Given the description of an element on the screen output the (x, y) to click on. 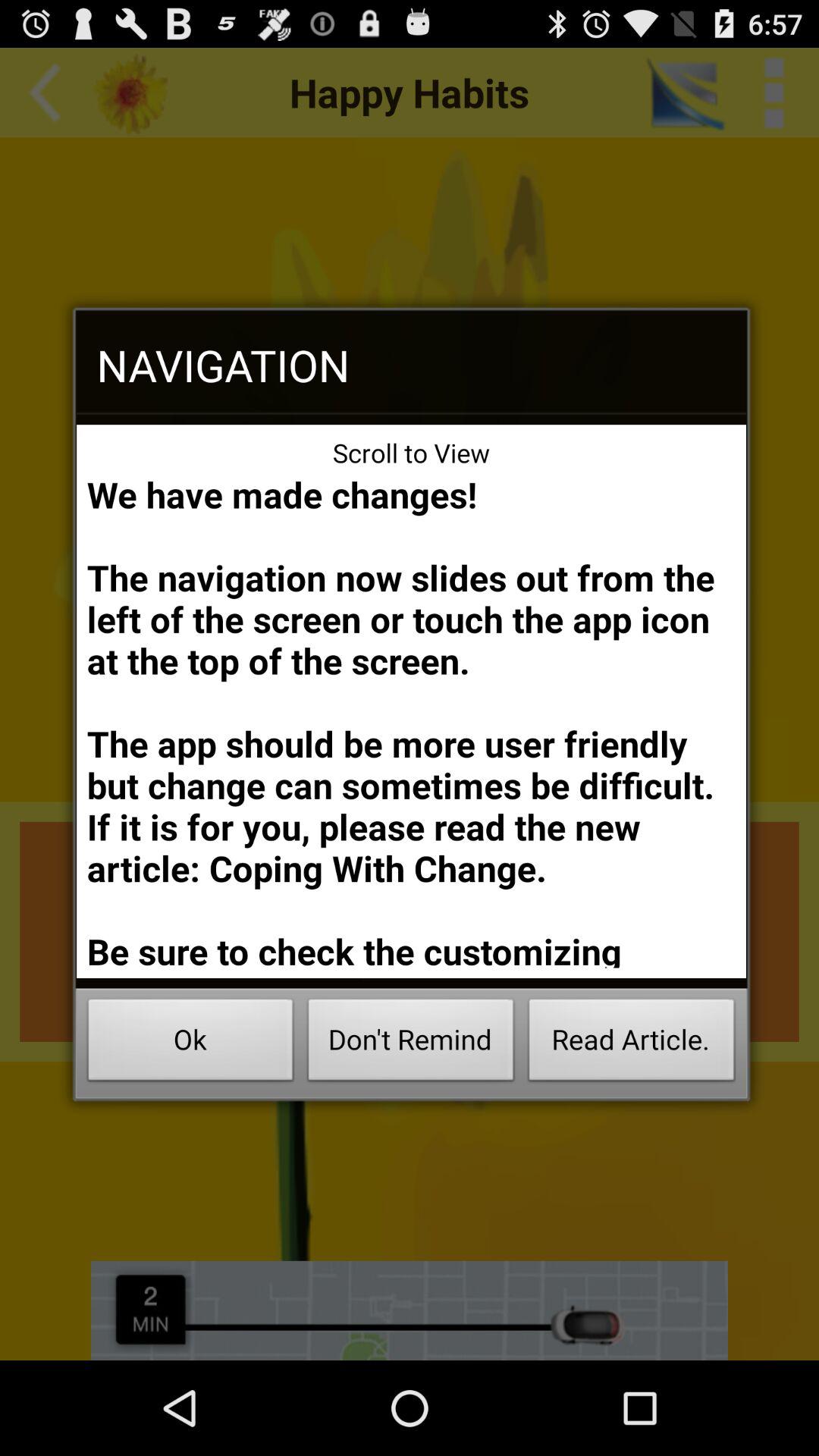
choose the icon at the bottom (410, 1044)
